Given the description of an element on the screen output the (x, y) to click on. 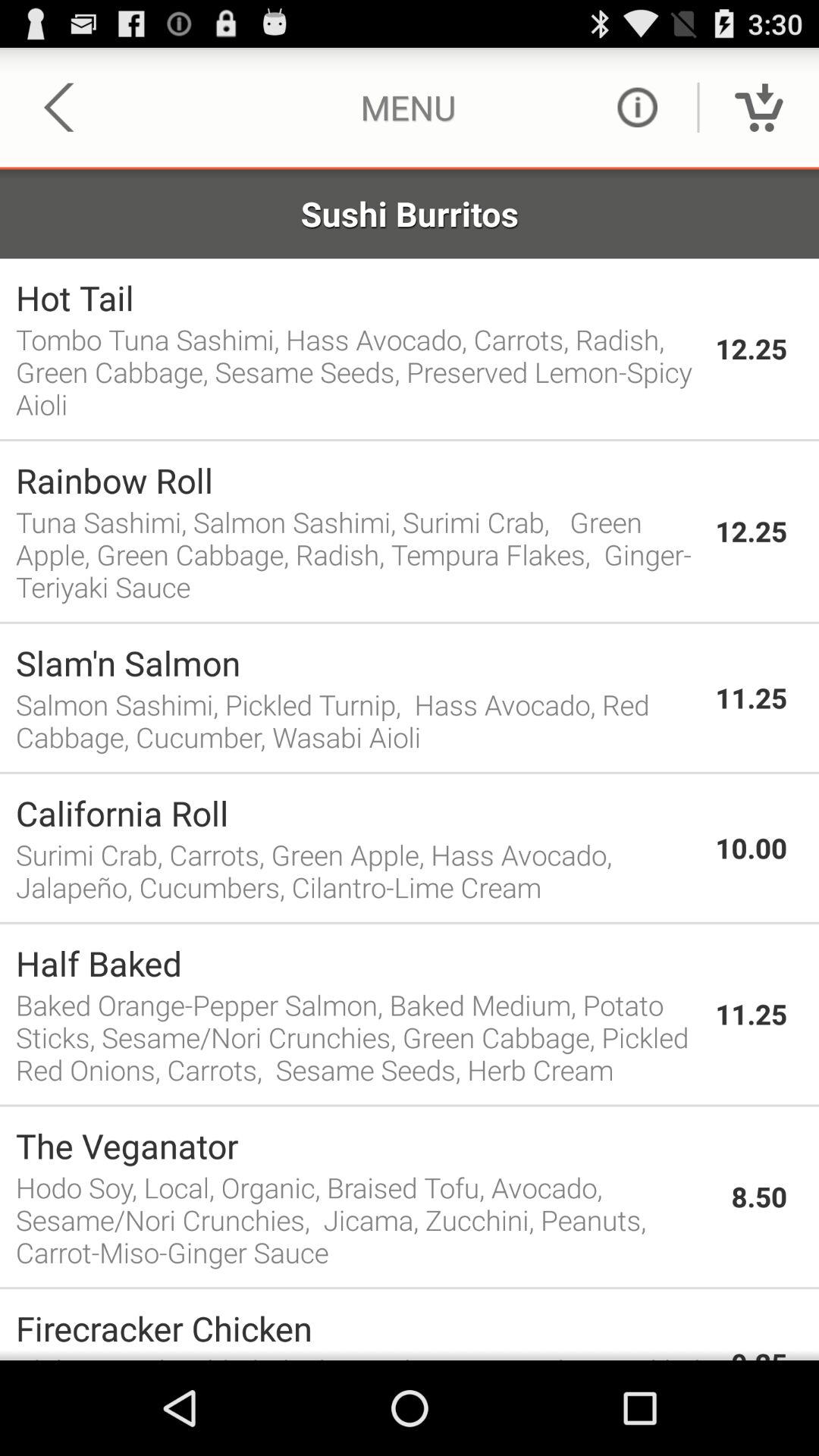
click the icon below the the veganator app (365, 1219)
